Given the description of an element on the screen output the (x, y) to click on. 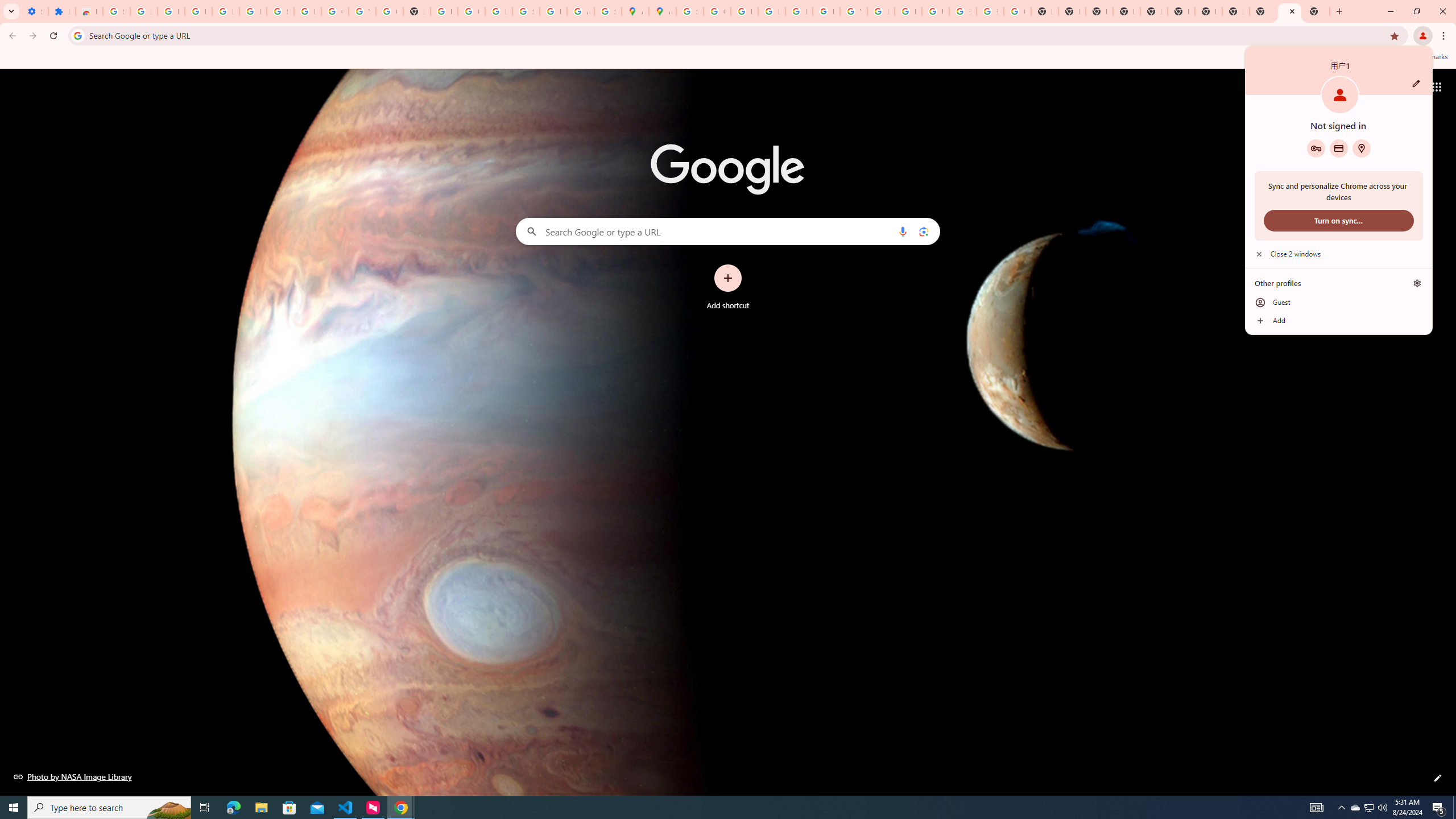
Google Chrome - 2 running windows (400, 807)
Search highlights icon opens search home window (167, 807)
Sign in - Google Accounts (280, 11)
New Tab (1126, 11)
https://scholar.google.com/ (444, 11)
Settings - On startup (34, 11)
Reviews: Helix Fruit Jump Arcade Game (88, 11)
Addresses and more (1361, 148)
